Given the description of an element on the screen output the (x, y) to click on. 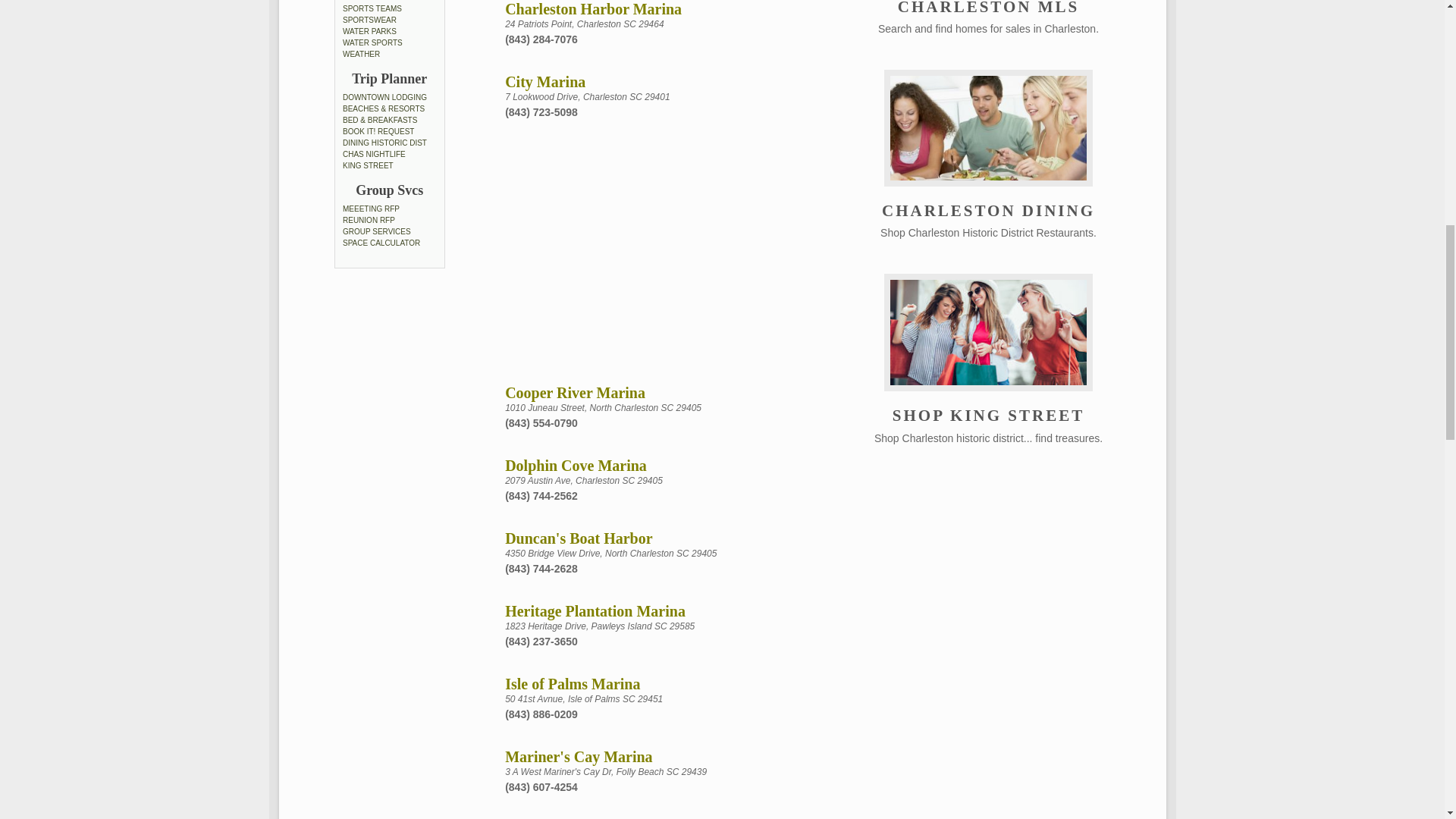
Advertisement (644, 252)
